Given the description of an element on the screen output the (x, y) to click on. 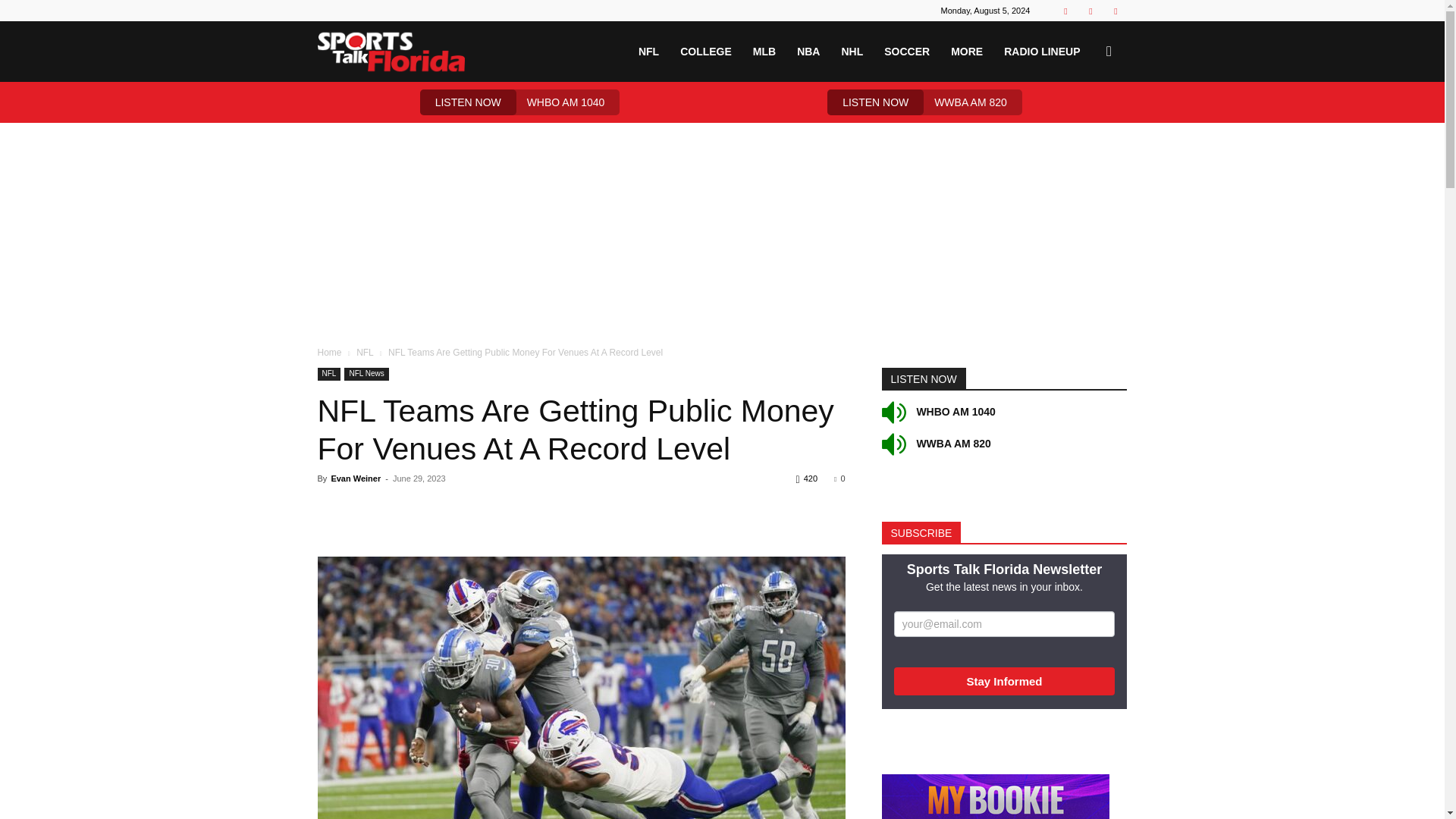
Twitter (1090, 10)
Youtube (1114, 10)
Facebook (1065, 10)
